Given the description of an element on the screen output the (x, y) to click on. 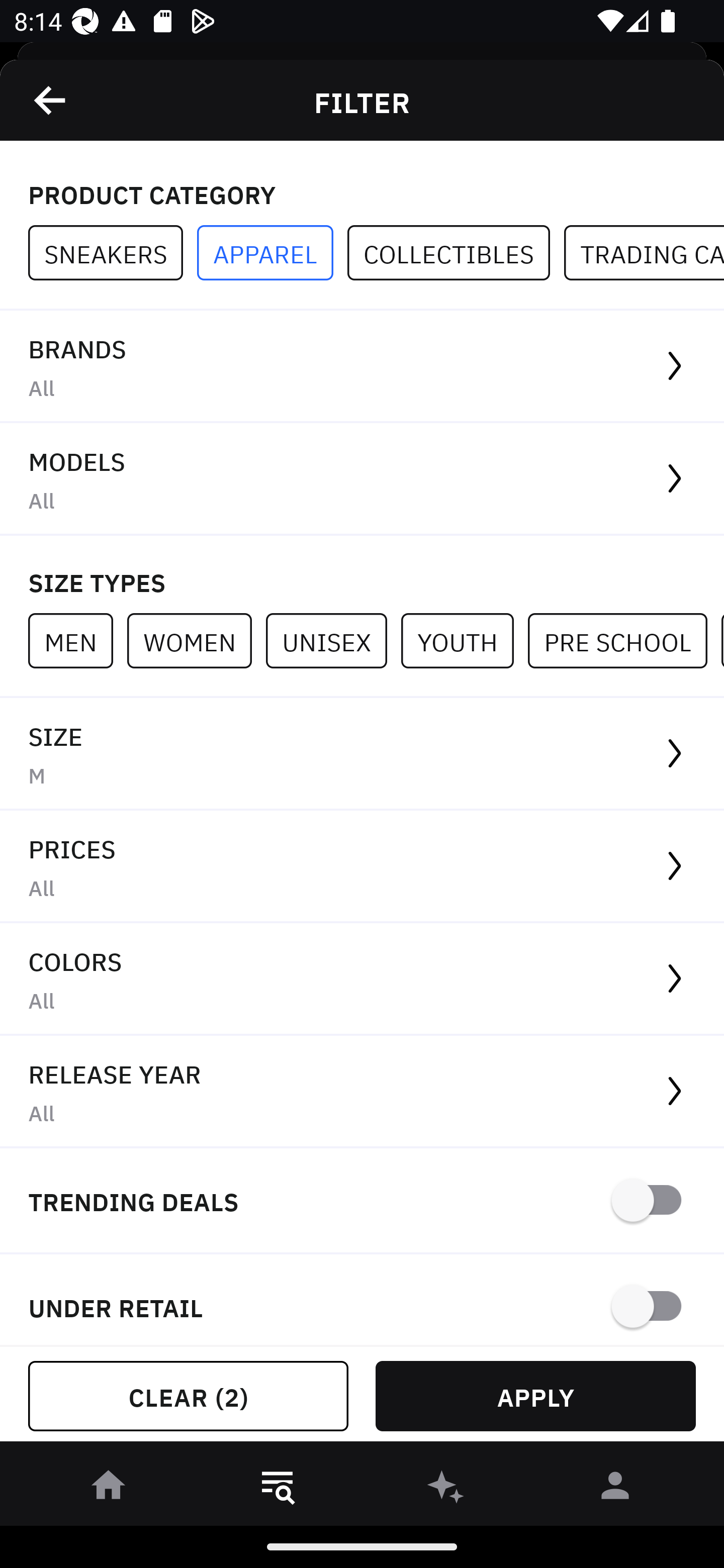
 (50, 100)
SNEAKERS (112, 252)
APPAREL (271, 252)
COLLECTIBLES (455, 252)
TRADING CARDS (643, 252)
BRANDS All (362, 366)
MODELS All (362, 479)
MEN (77, 640)
WOMEN (196, 640)
UNISEX (333, 640)
YOUTH (464, 640)
PRE SCHOOL (624, 640)
SIZE M (362, 753)
PRICES All (362, 866)
COLORS All (362, 979)
RELEASE YEAR All (362, 1091)
TRENDING DEALS (362, 1200)
UNDER RETAIL (362, 1299)
CLEAR (2) (188, 1396)
APPLY (535, 1396)
󰋜 (108, 1488)
󱎸 (277, 1488)
󰫢 (446, 1488)
󰀄 (615, 1488)
